Given the description of an element on the screen output the (x, y) to click on. 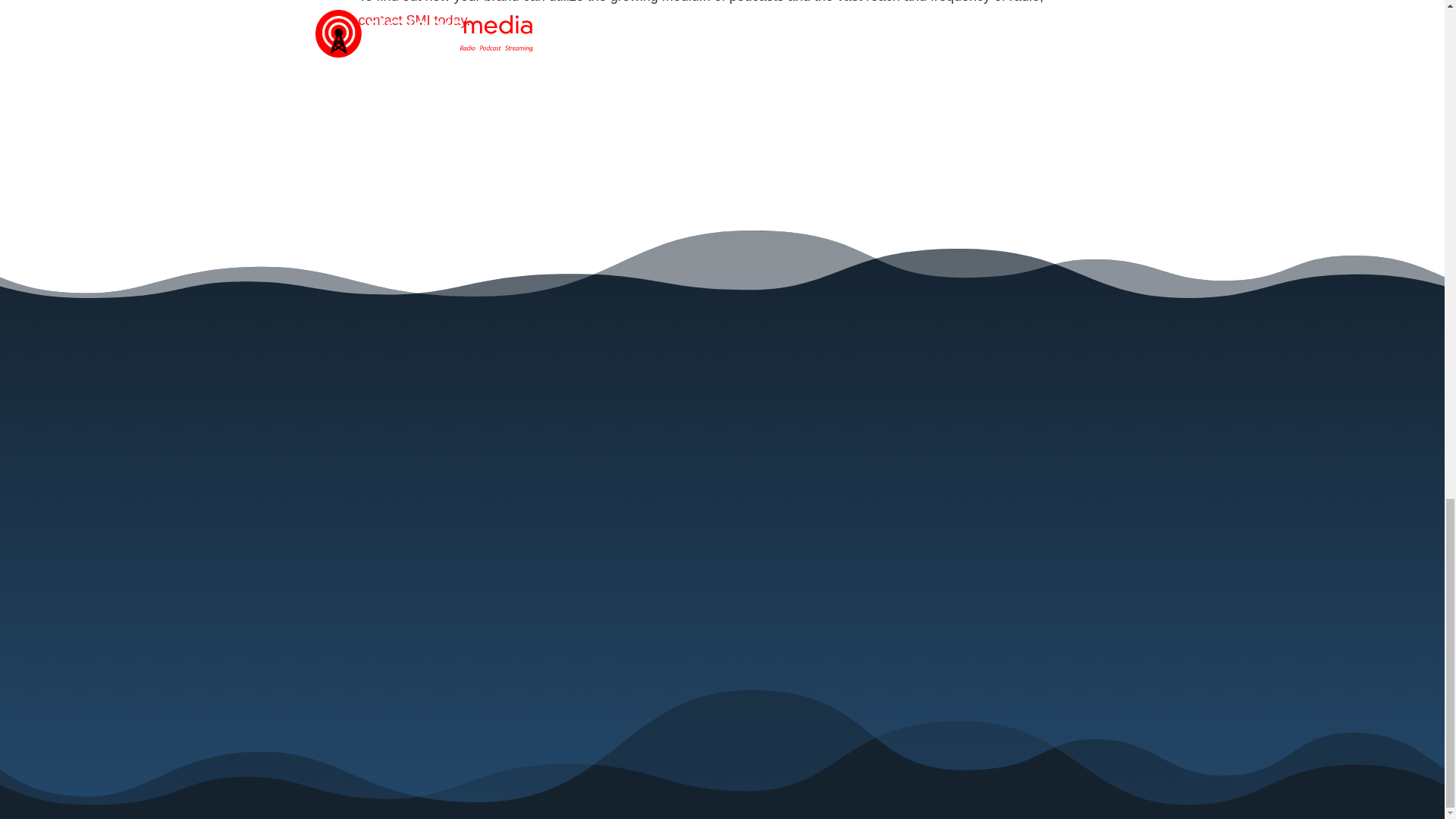
contact SMI today (411, 20)
